Given the description of an element on the screen output the (x, y) to click on. 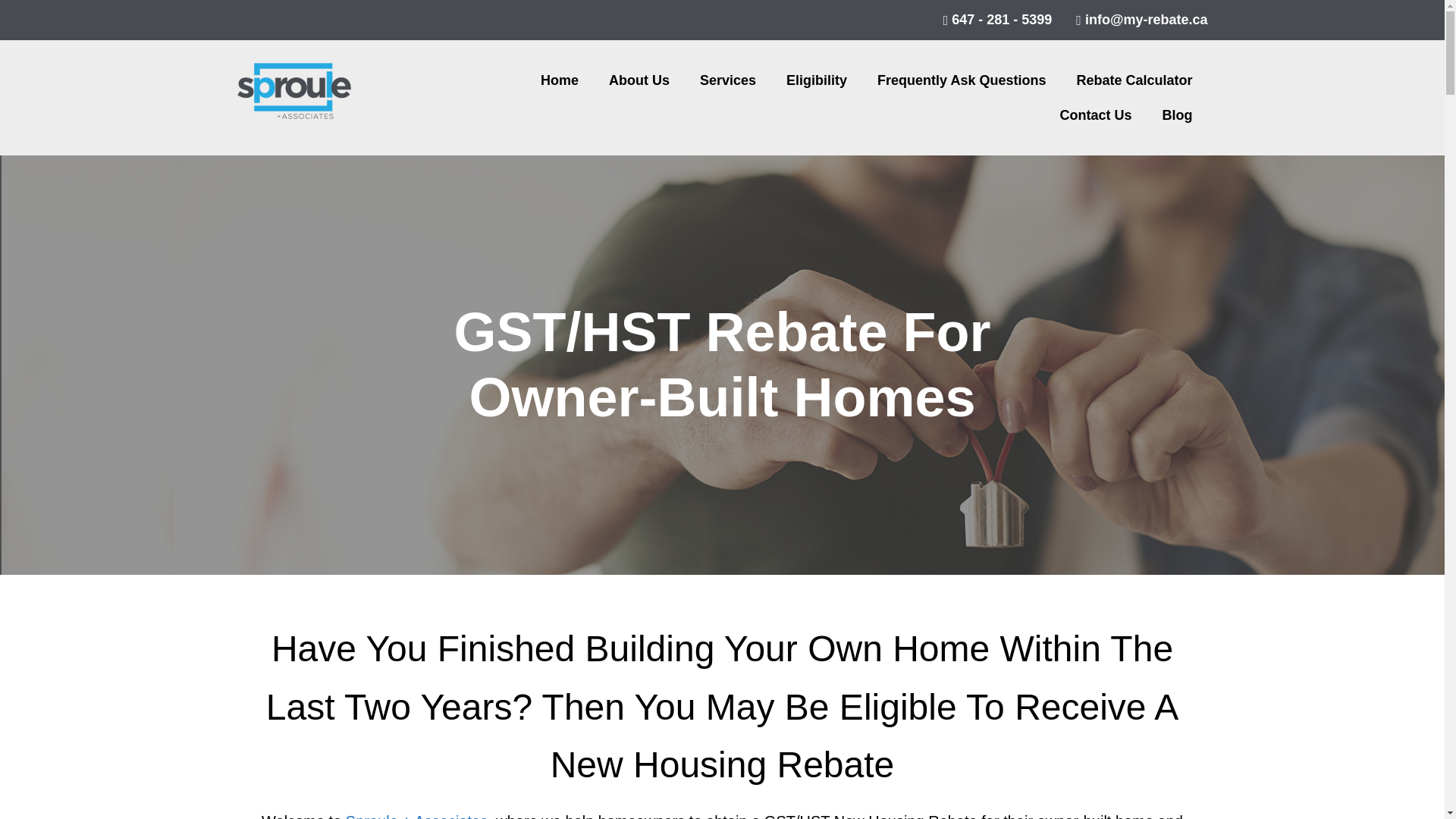
About Us (639, 80)
Frequently Ask Questions (961, 80)
Eligibility (816, 80)
Blog (1177, 114)
Home (559, 80)
Rebate Calculator (1134, 80)
Contact Us (1095, 114)
Services (727, 80)
647 - 281 - 5399 (991, 19)
